Given the description of an element on the screen output the (x, y) to click on. 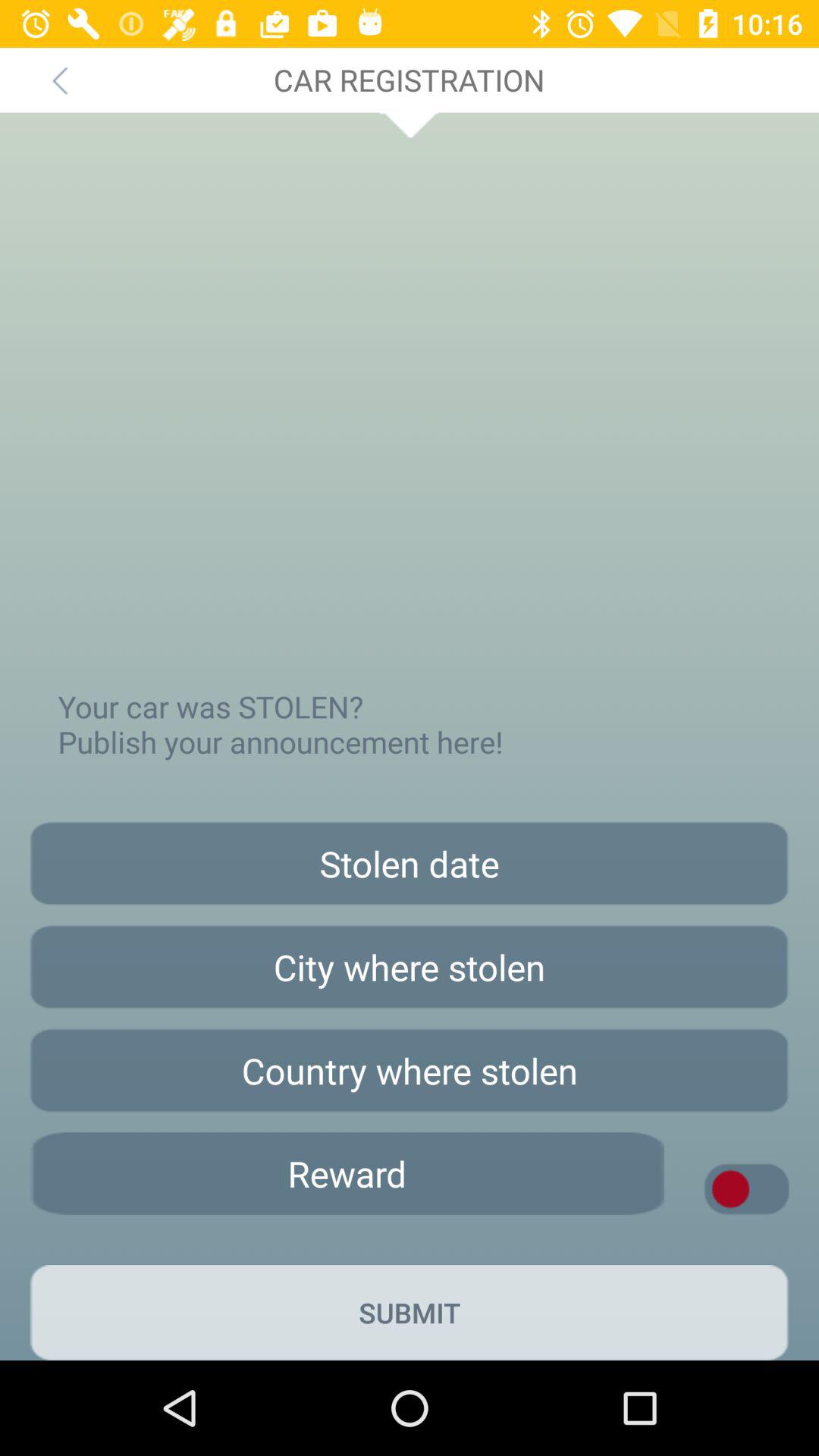
turn on the submit icon (409, 1312)
